Given the description of an element on the screen output the (x, y) to click on. 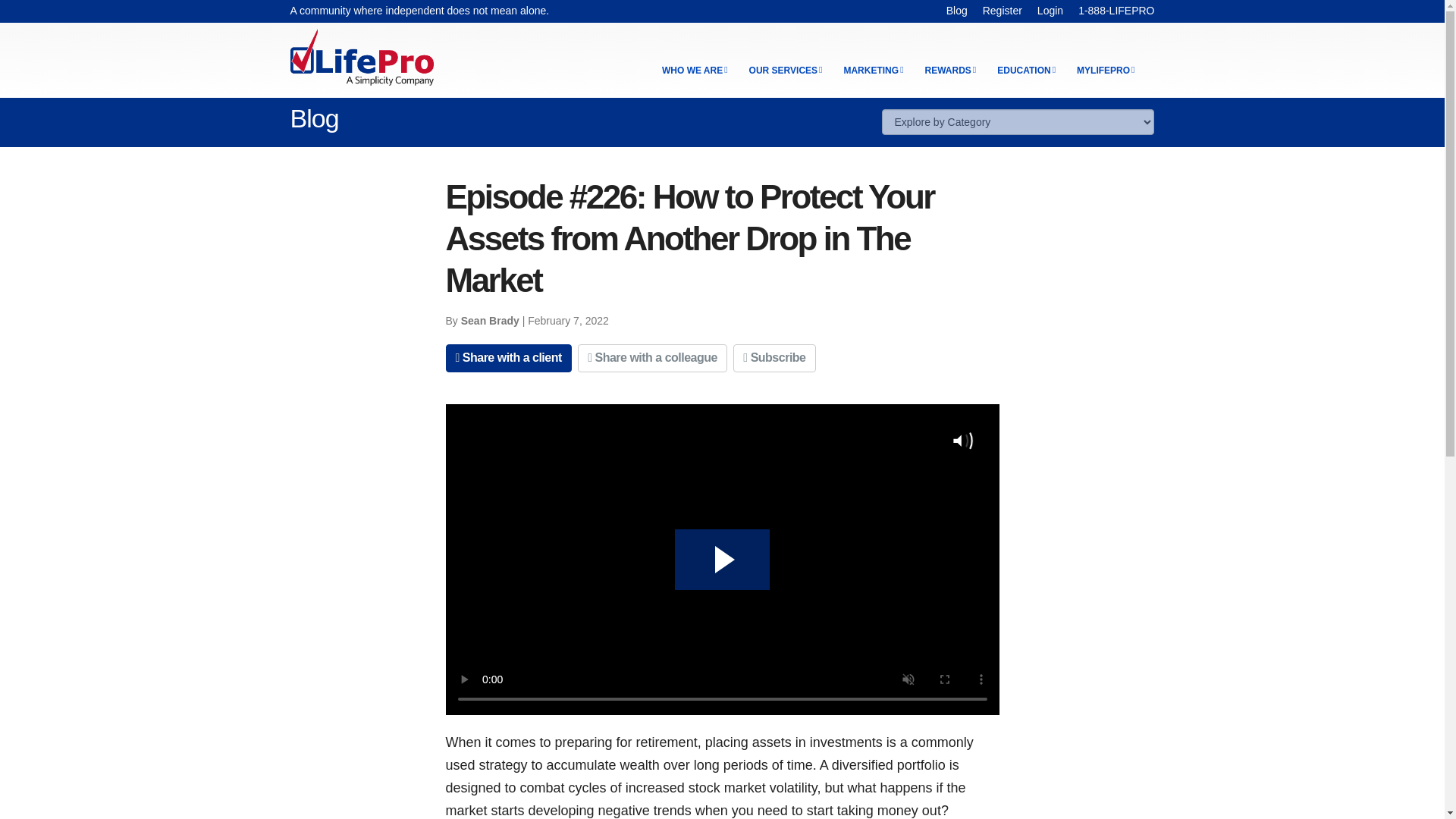
WHO WE ARE (695, 70)
OUR SERVICES (785, 70)
Blog (957, 10)
Register (1002, 10)
Login (1049, 10)
Register (1002, 10)
MARKETING (872, 70)
LifePro Financial Services, Inc. (360, 54)
Login (1049, 10)
